Given the description of an element on the screen output the (x, y) to click on. 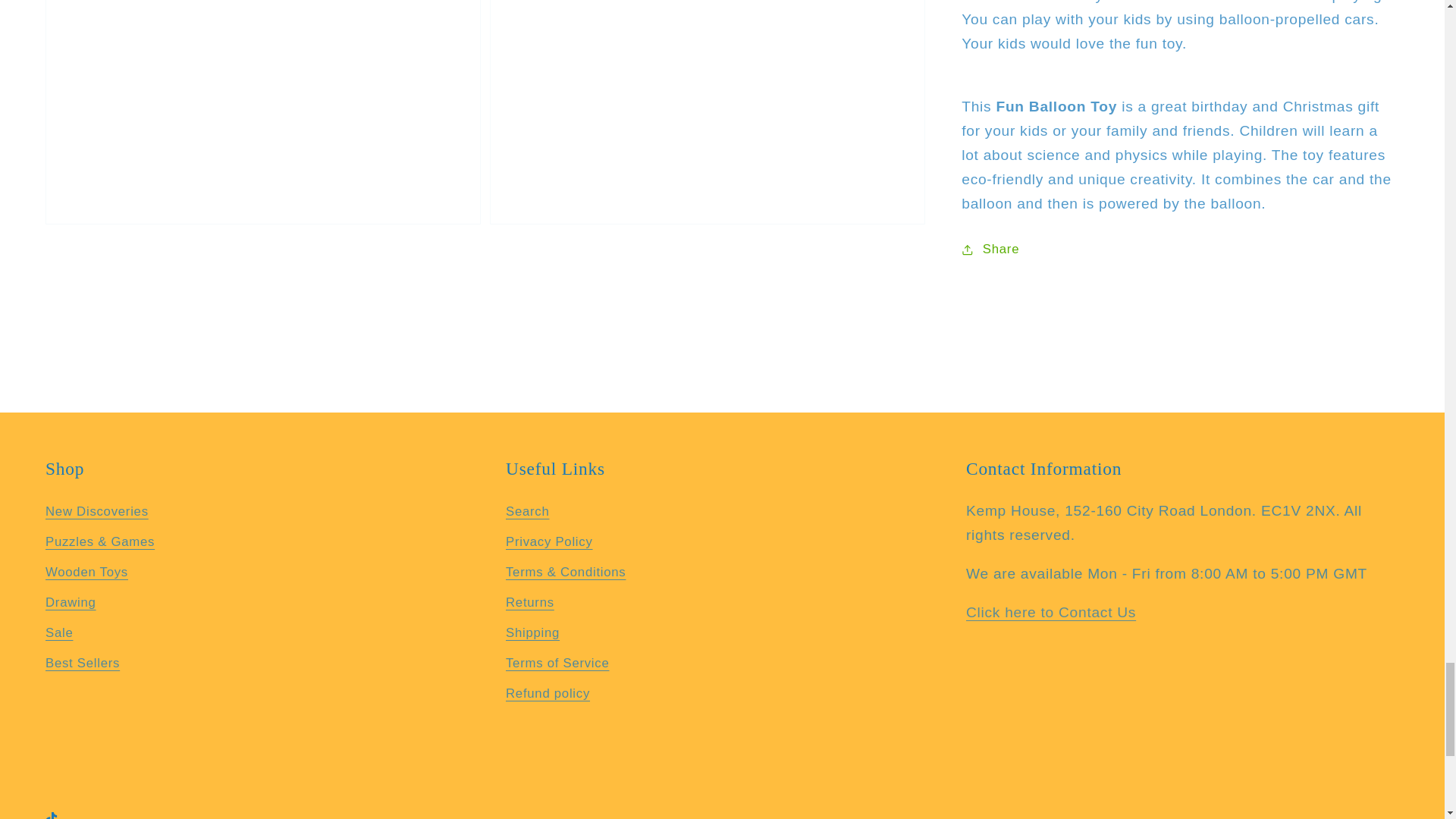
Contact (1050, 611)
